Given the description of an element on the screen output the (x, y) to click on. 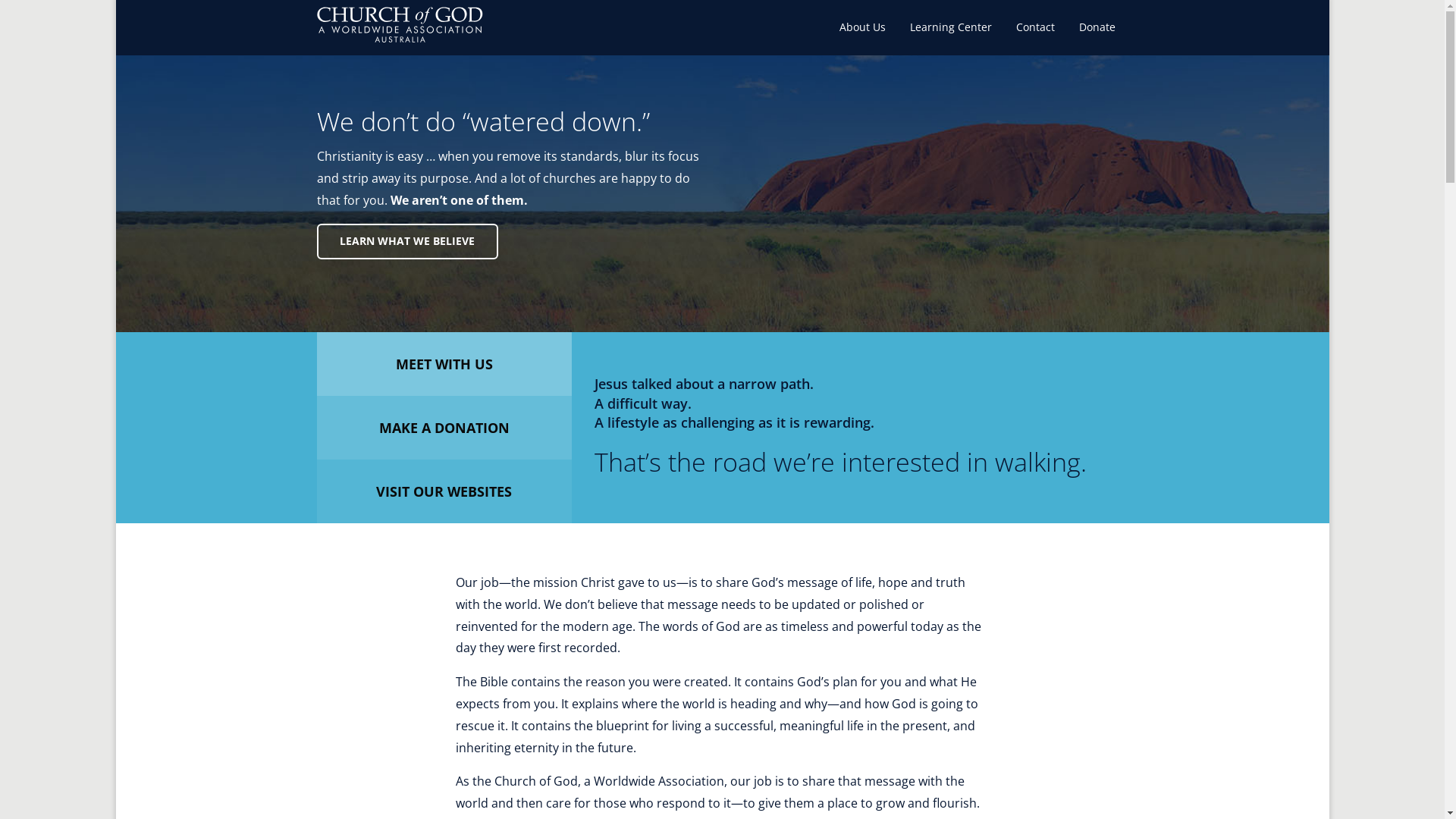
Learning Center Element type: text (950, 26)
MEET WITH US Element type: text (444, 363)
VISIT OUR WEBSITES Element type: text (444, 491)
LEARN WHAT WE BELIEVE Element type: text (407, 241)
MAKE A DONATION Element type: text (444, 427)
Donate Element type: text (1096, 26)
About Us Element type: text (862, 26)
Contact Element type: text (1035, 26)
